Given the description of an element on the screen output the (x, y) to click on. 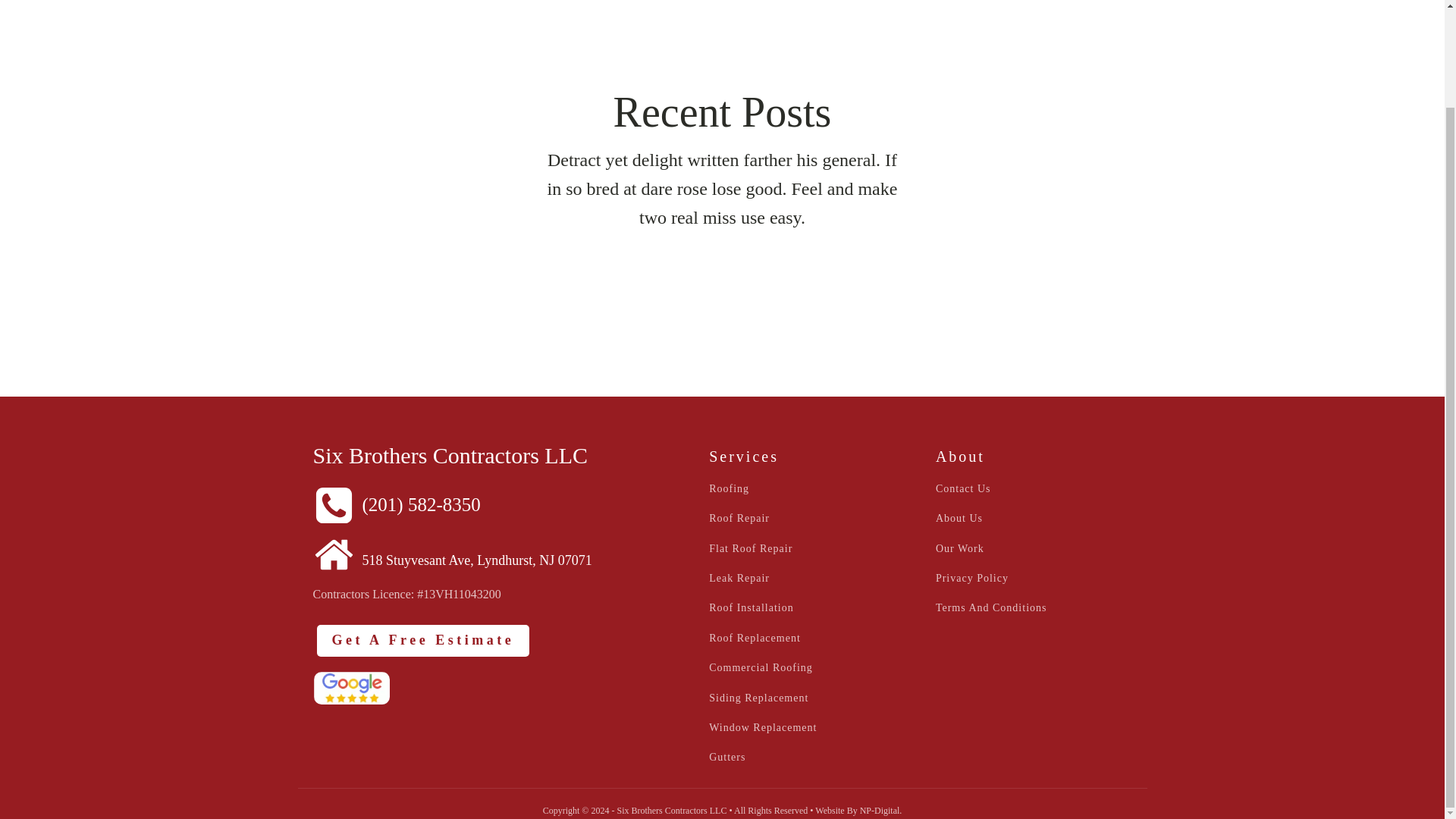
Siding Replacement (758, 697)
Flat Roof Repair (750, 548)
Commercial Roofing (760, 667)
Window Replacement (762, 727)
Roof Installation (751, 607)
Leak Repair (739, 577)
Roof Repair (739, 518)
Roof Replacement (754, 637)
518 Stuyvesant Ave, Lyndhurst, NJ 07071 (452, 550)
Get A Free Estimate (423, 640)
Roofing (729, 488)
